Given the description of an element on the screen output the (x, y) to click on. 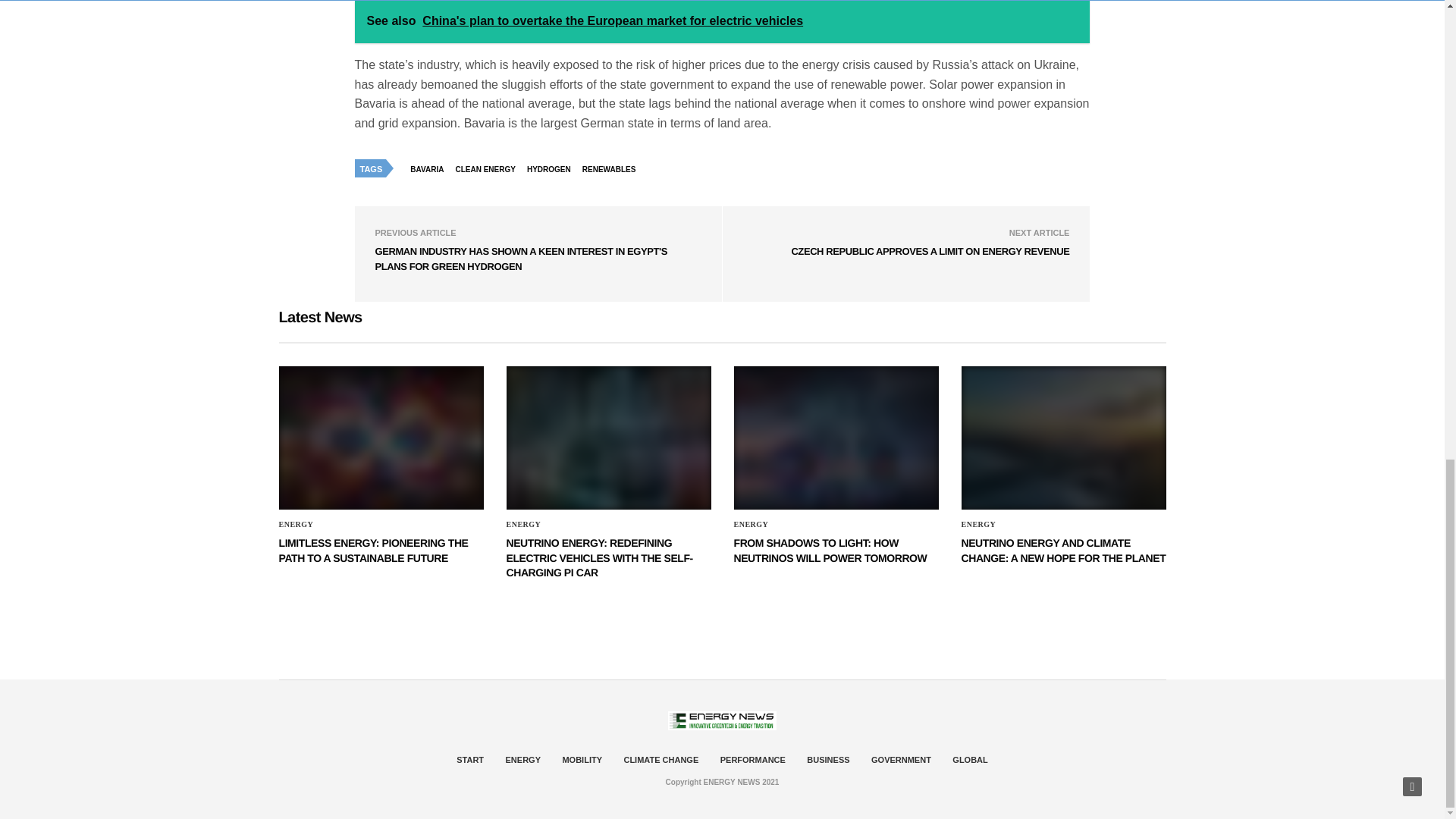
BAVARIA (430, 168)
ENERGY (750, 524)
ENERGY (296, 524)
RENEWABLES (612, 168)
FROM SHADOWS TO LIGHT: HOW NEUTRINOS WILL POWER TOMORROW (830, 550)
